Given the description of an element on the screen output the (x, y) to click on. 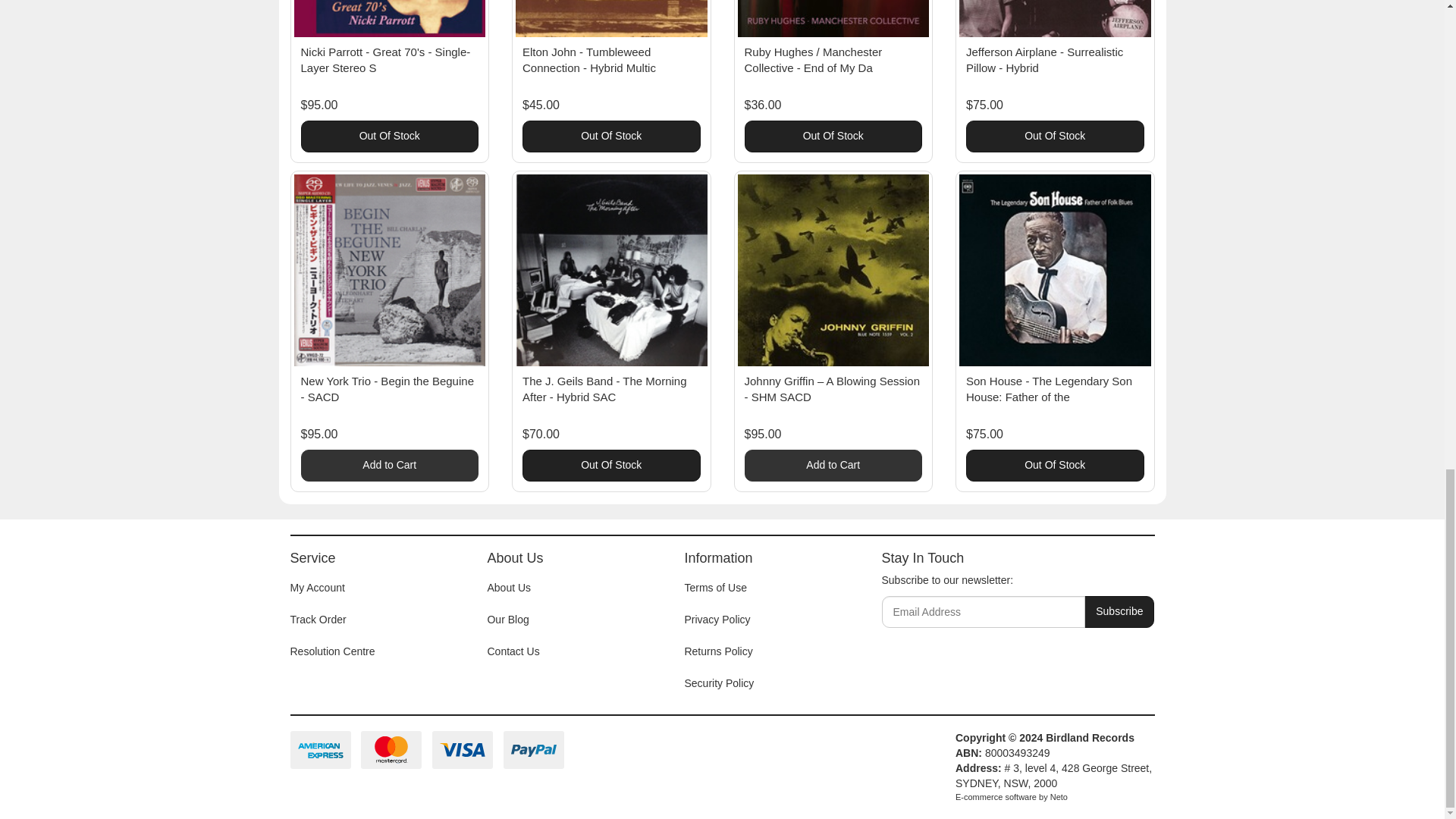
The J. Geils Band - The Morning After - Hybrid SACD (604, 388)
Add to Cart (389, 465)
Notify Me When Back In Stock (1055, 136)
New York Trio - Begin the Beguine - SACD (386, 388)
Jefferson Airplane - Surrealistic Pillow - Hybrid Mono SACD (1044, 59)
Subscribe (1119, 612)
Notify Me When Back In Stock (611, 465)
Nicki Parrott - Great 70's - Single-Layer Stereo SACD (384, 59)
Notify Me When Back In Stock (389, 136)
Add to Cart (833, 465)
Notify Me When Back In Stock (611, 136)
Notify Me When Back In Stock (833, 136)
